Given the description of an element on the screen output the (x, y) to click on. 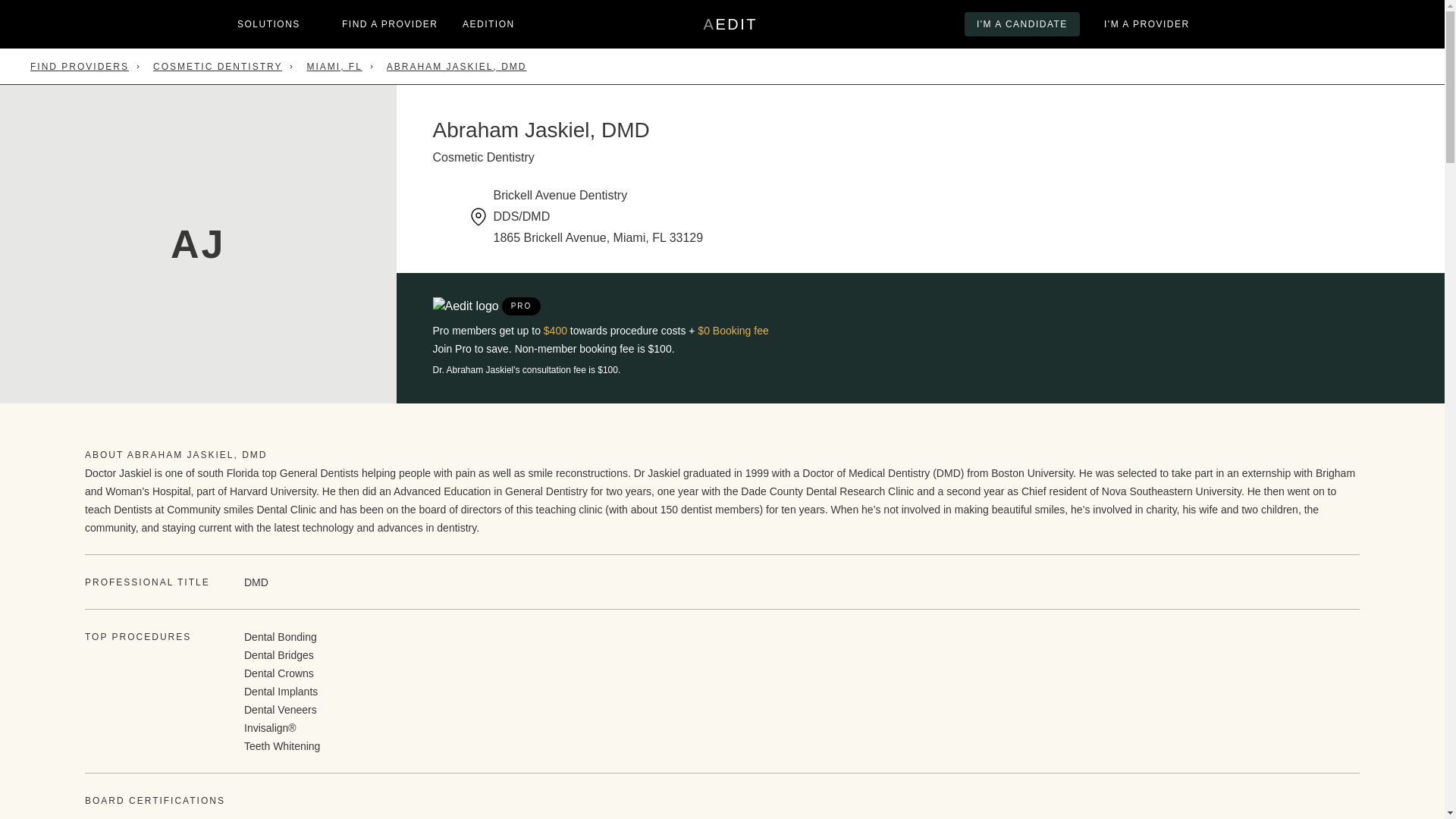
AEDITION (489, 24)
FIND PROVIDERS (79, 66)
FIND A PROVIDER (390, 24)
COSMETIC DENTISTRY (217, 66)
I'M A CANDIDATE (730, 24)
MIAMI, FL (1021, 24)
